Given the description of an element on the screen output the (x, y) to click on. 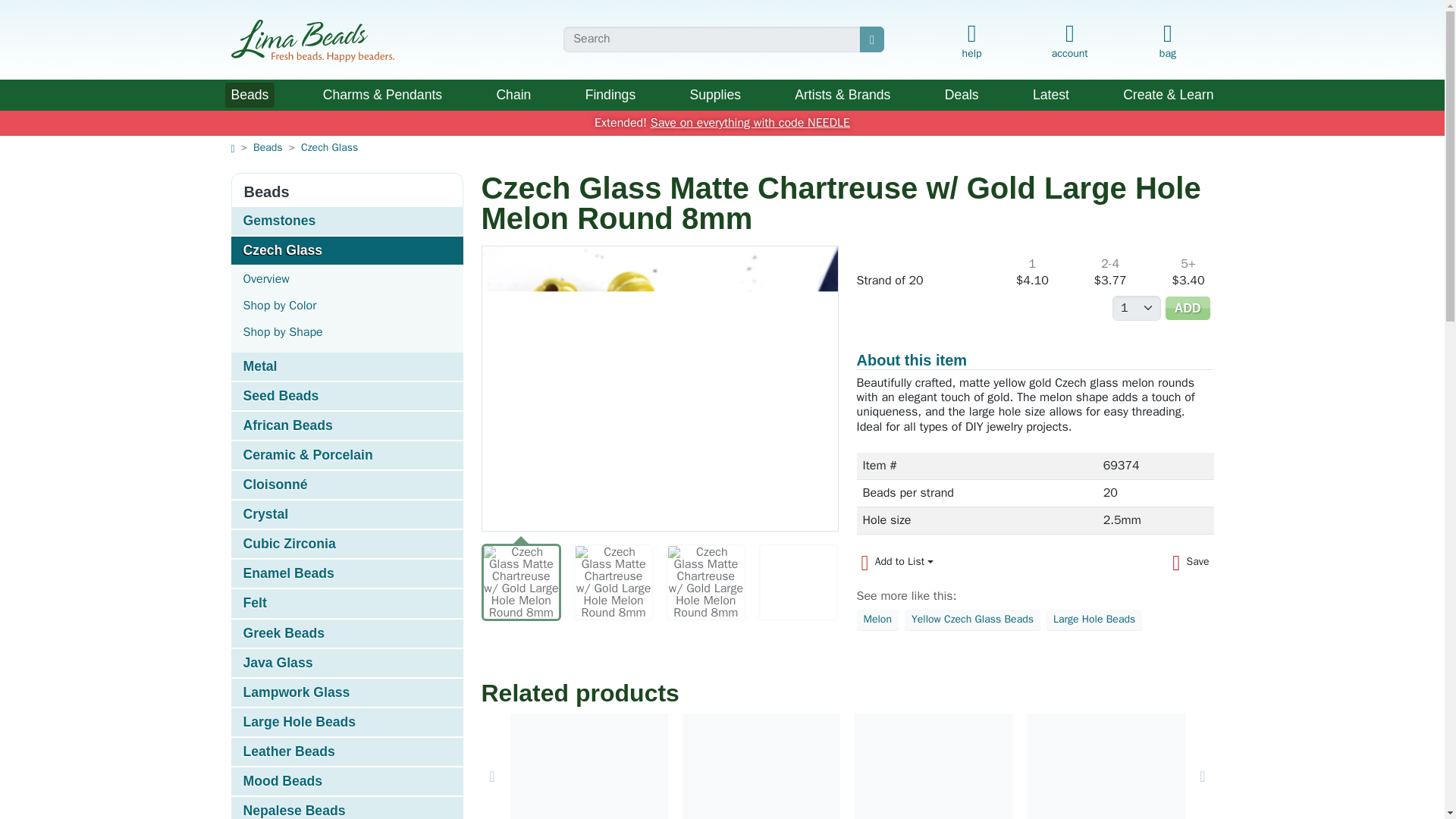
help (971, 42)
bag (1166, 42)
account (1069, 38)
Beads (249, 94)
